Given the description of an element on the screen output the (x, y) to click on. 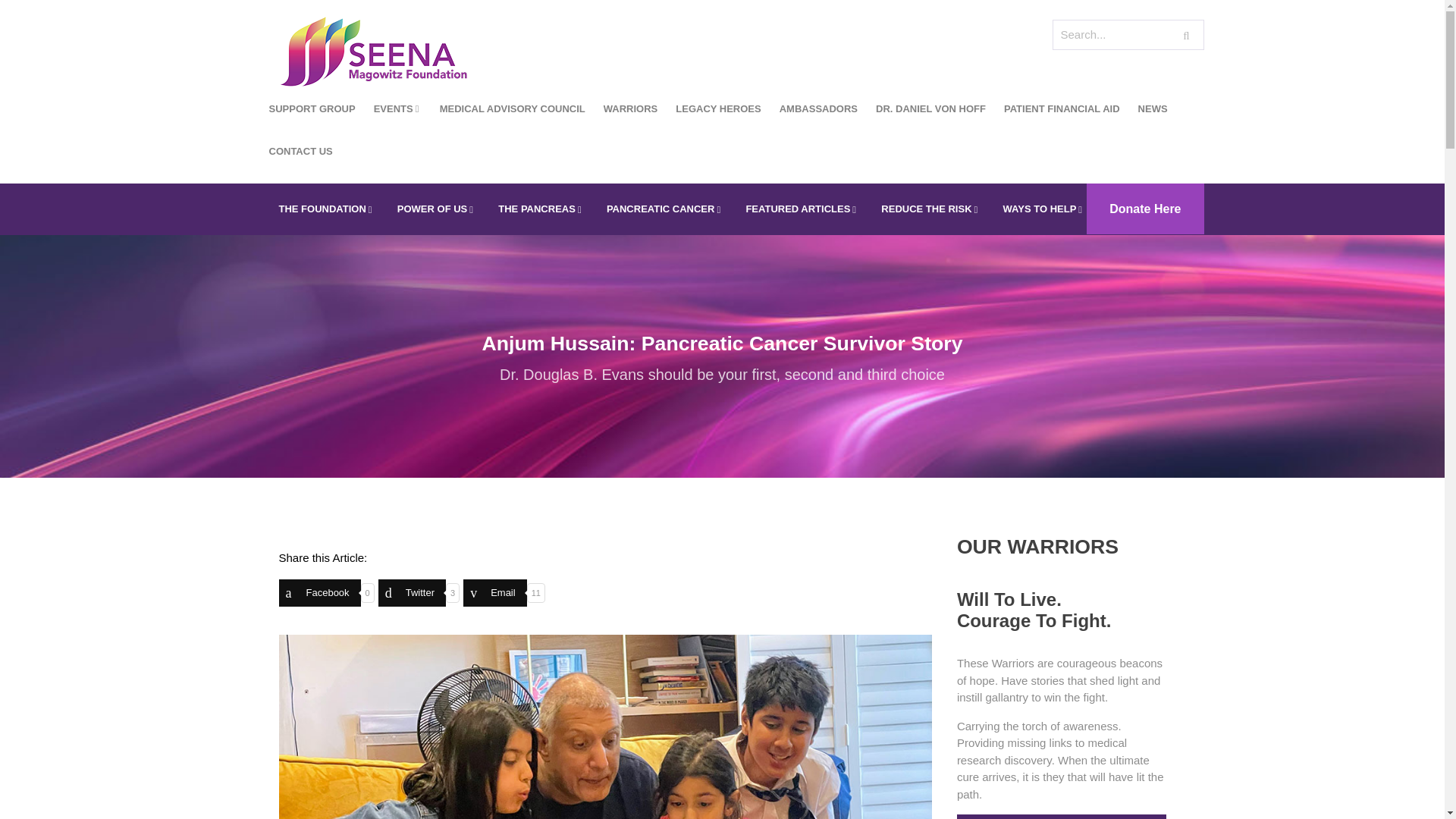
Share on Twitter (411, 592)
Share on Facebook (320, 592)
Anjum Hussain: Pancreatic Cancer Survivor Story (606, 726)
Share on Email (495, 592)
